Given the description of an element on the screen output the (x, y) to click on. 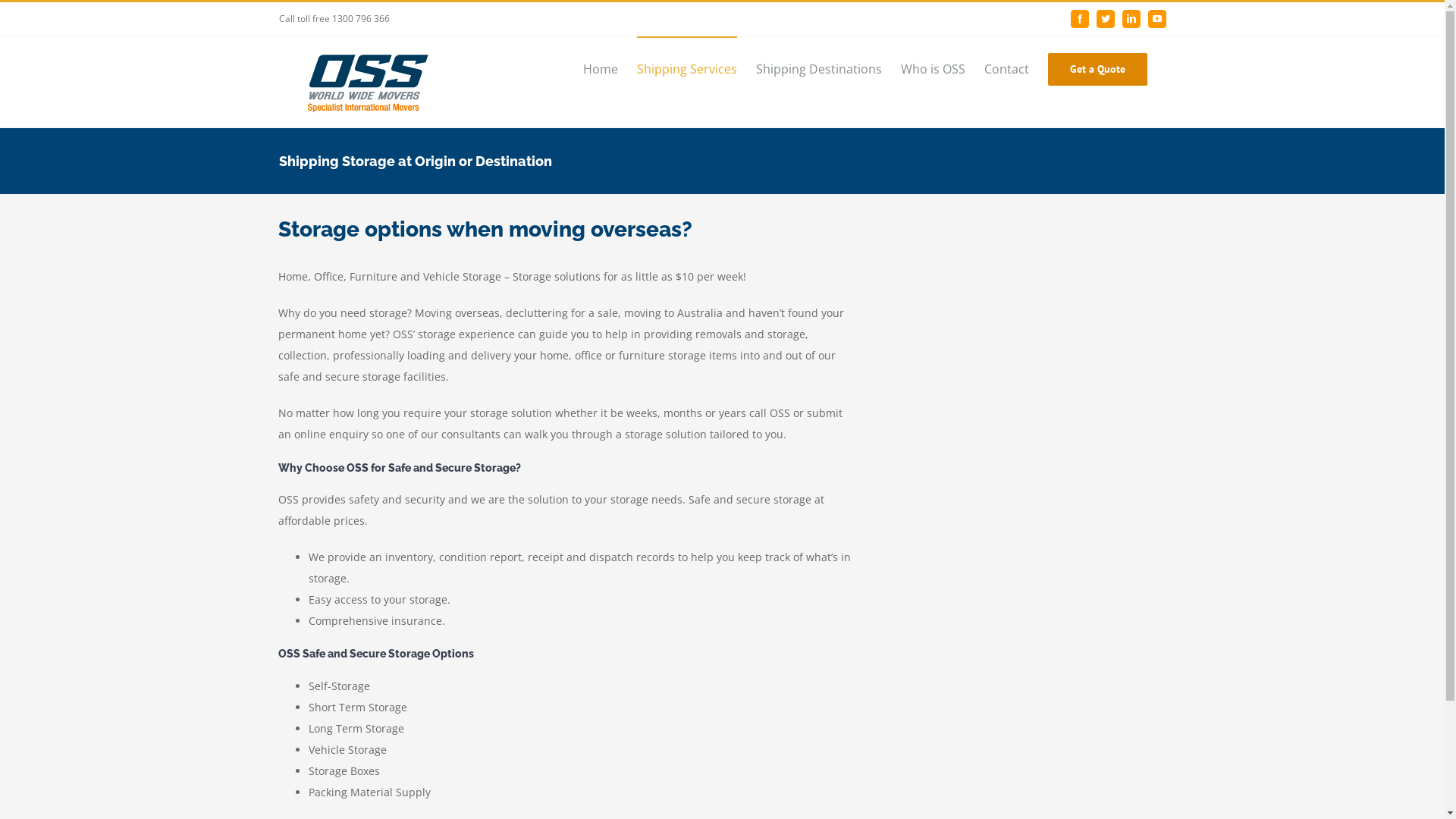
Facebook Element type: text (1079, 18)
Contact Element type: text (1006, 68)
Twitter Element type: text (1105, 18)
Get a Quote Element type: text (1097, 68)
Home Element type: text (599, 68)
LinkedIn Element type: text (1131, 18)
Shipping Destinations Element type: text (818, 68)
Shipping Services Element type: text (687, 68)
Who is OSS Element type: text (932, 68)
YouTube Element type: text (1157, 18)
